Given the description of an element on the screen output the (x, y) to click on. 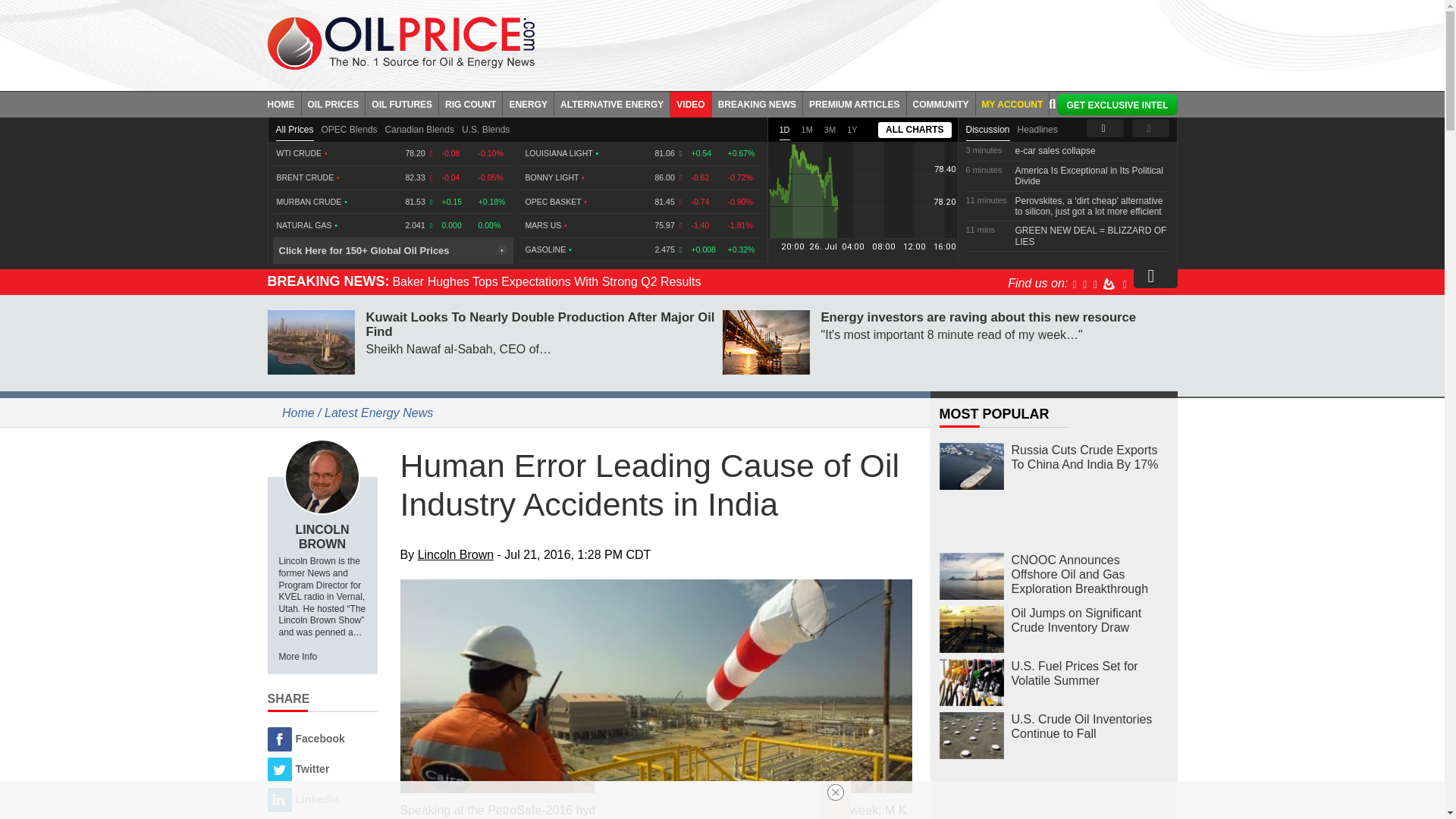
U.S. Fuel Prices Set for Volatile Summer (971, 682)
Oil prices - Oilprice.com (400, 42)
BREAKING NEWS (757, 103)
COMMUNITY (941, 103)
OIL PRICES (333, 103)
U.S. Crude Oil Inventories Continue to Fall (971, 735)
MY ACCOUNT (1012, 103)
Lincoln Brown (321, 476)
RIG COUNT (470, 103)
Oil Jumps on Significant Crude Inventory Draw (971, 629)
VIDEO (690, 103)
ALTERNATIVE ENERGY (611, 103)
HOME (283, 103)
